Given the description of an element on the screen output the (x, y) to click on. 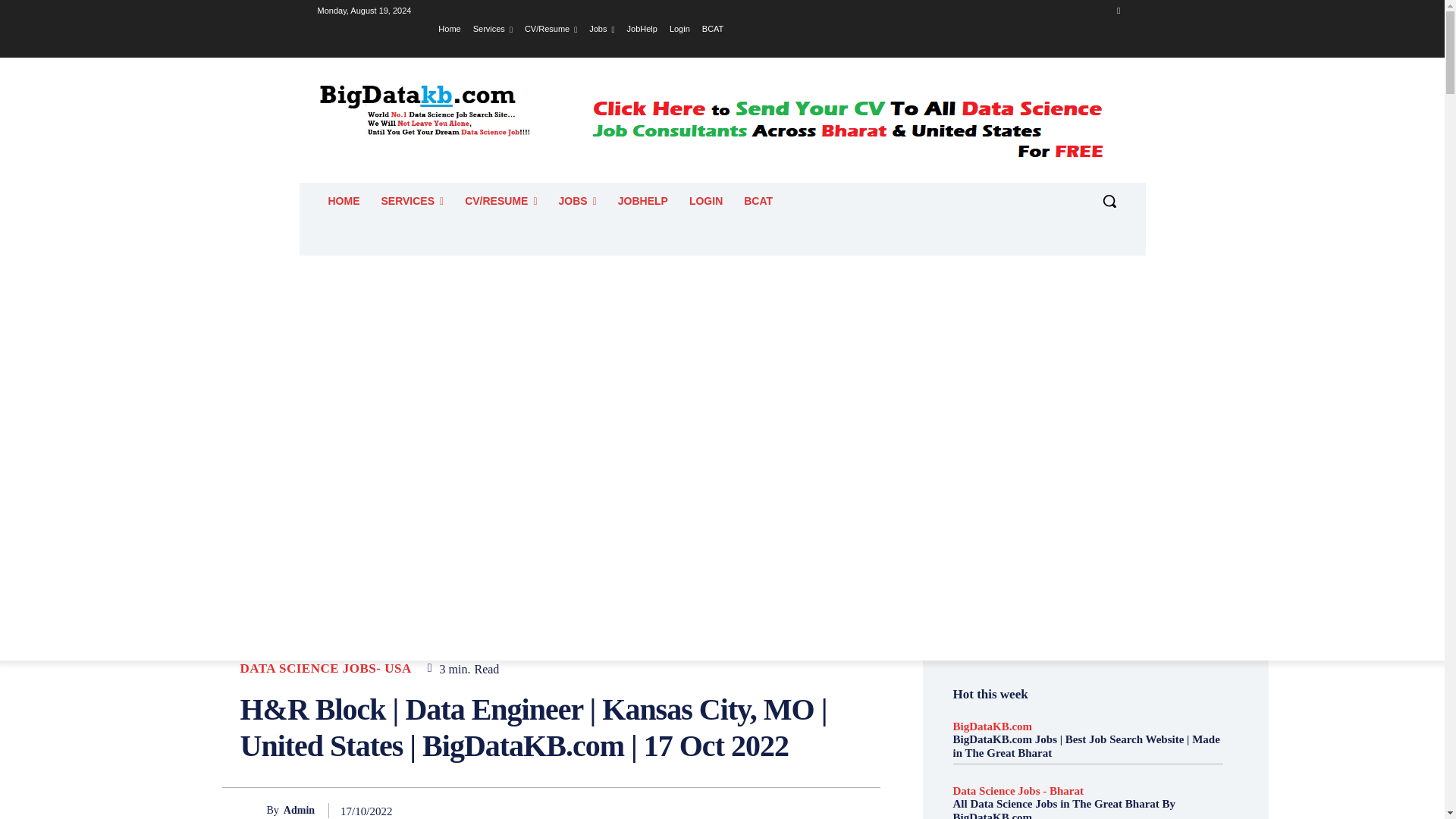
JobHelp (642, 28)
Jobs (601, 28)
Youtube (1117, 9)
Services (492, 28)
Admin (253, 810)
Home (449, 28)
